Given the description of an element on the screen output the (x, y) to click on. 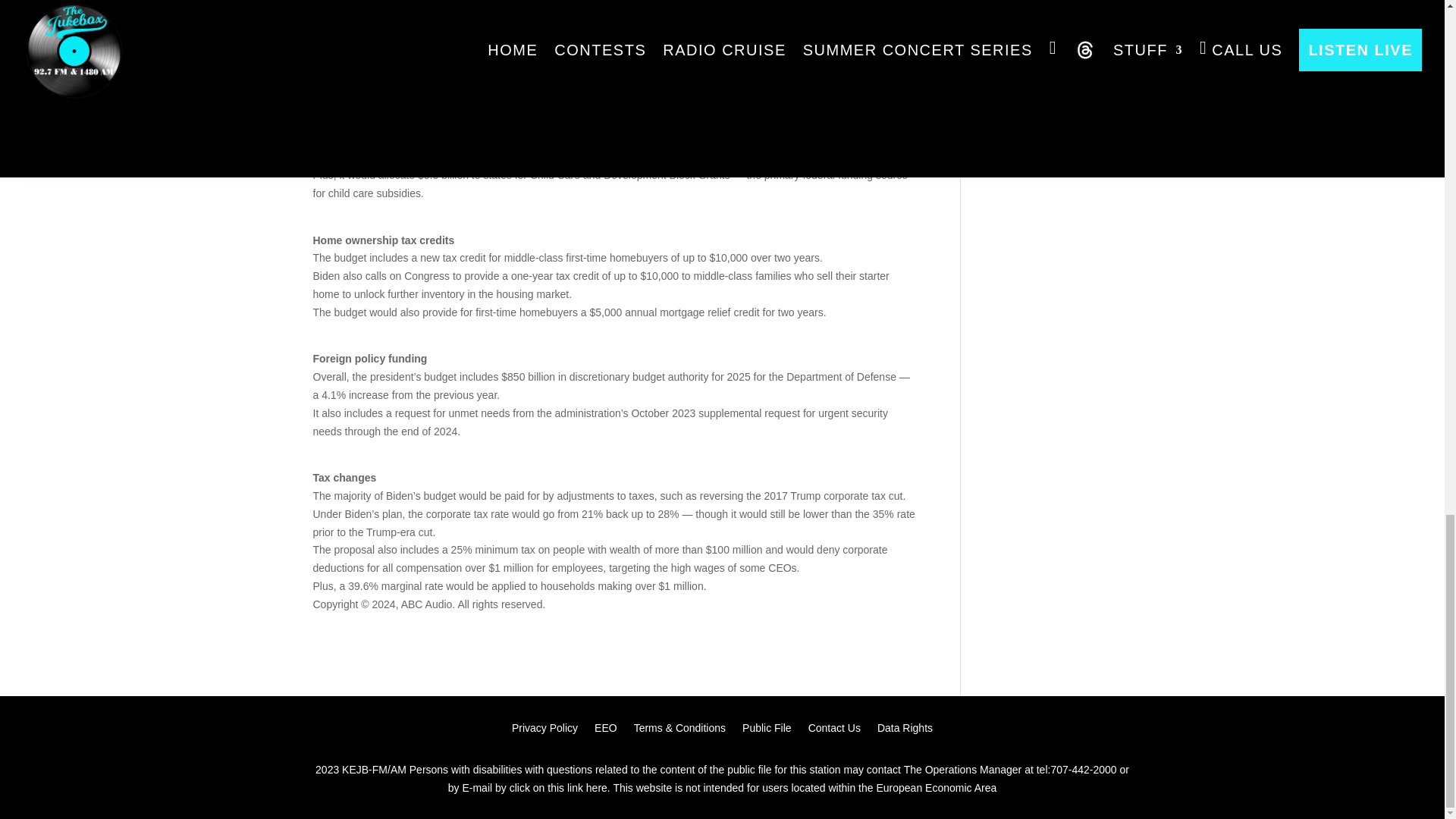
EEO (605, 730)
Privacy Policy (545, 730)
